Given the description of an element on the screen output the (x, y) to click on. 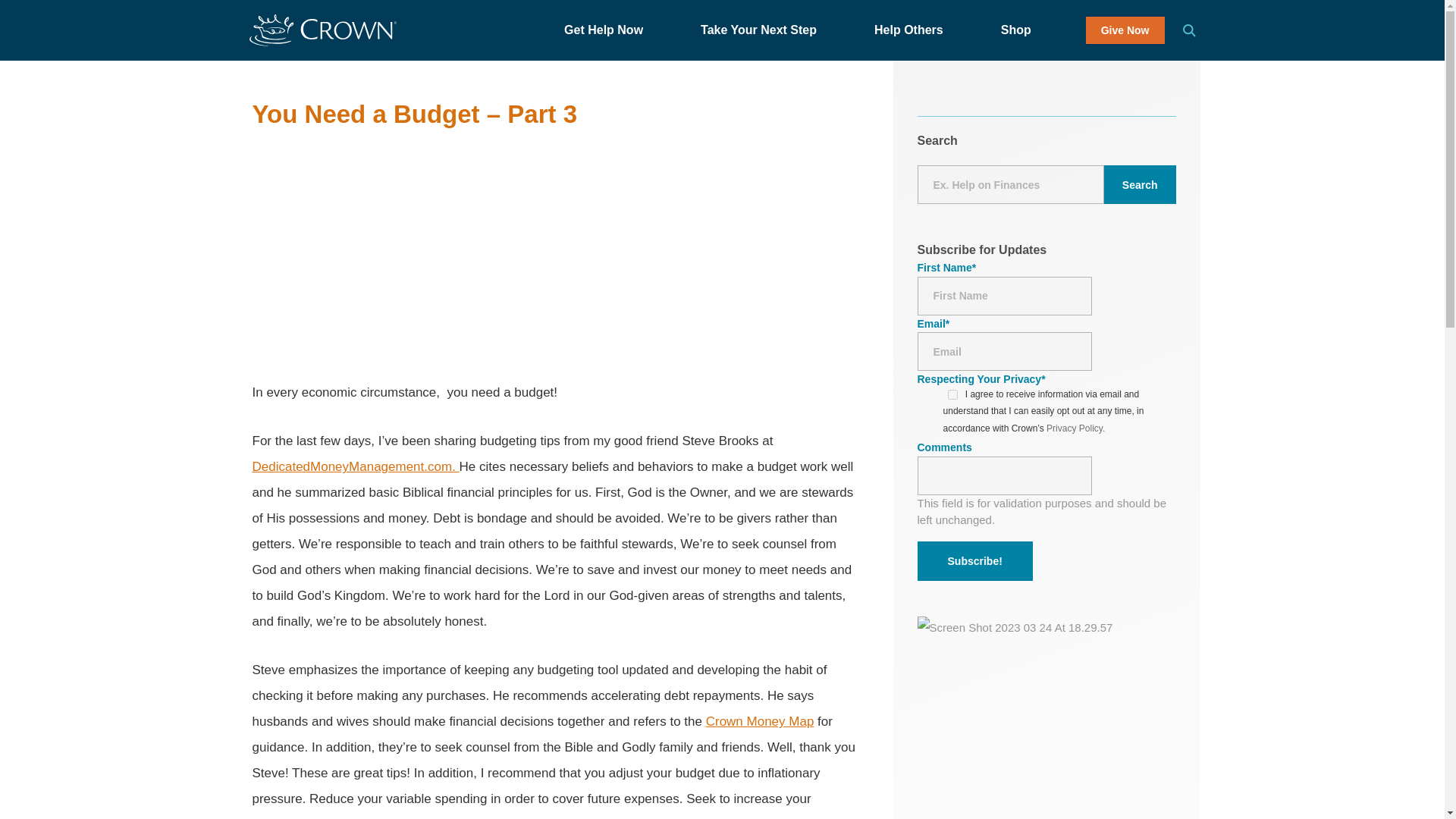
Search (1139, 184)
Shop (1023, 30)
Get Help Now (611, 30)
Crown Logo 2021 H White 2023 (322, 29)
Help Others (916, 30)
Search (1188, 30)
Subscribe! (974, 560)
Give Now (1125, 30)
Take Your Next Step (766, 30)
